Given the description of an element on the screen output the (x, y) to click on. 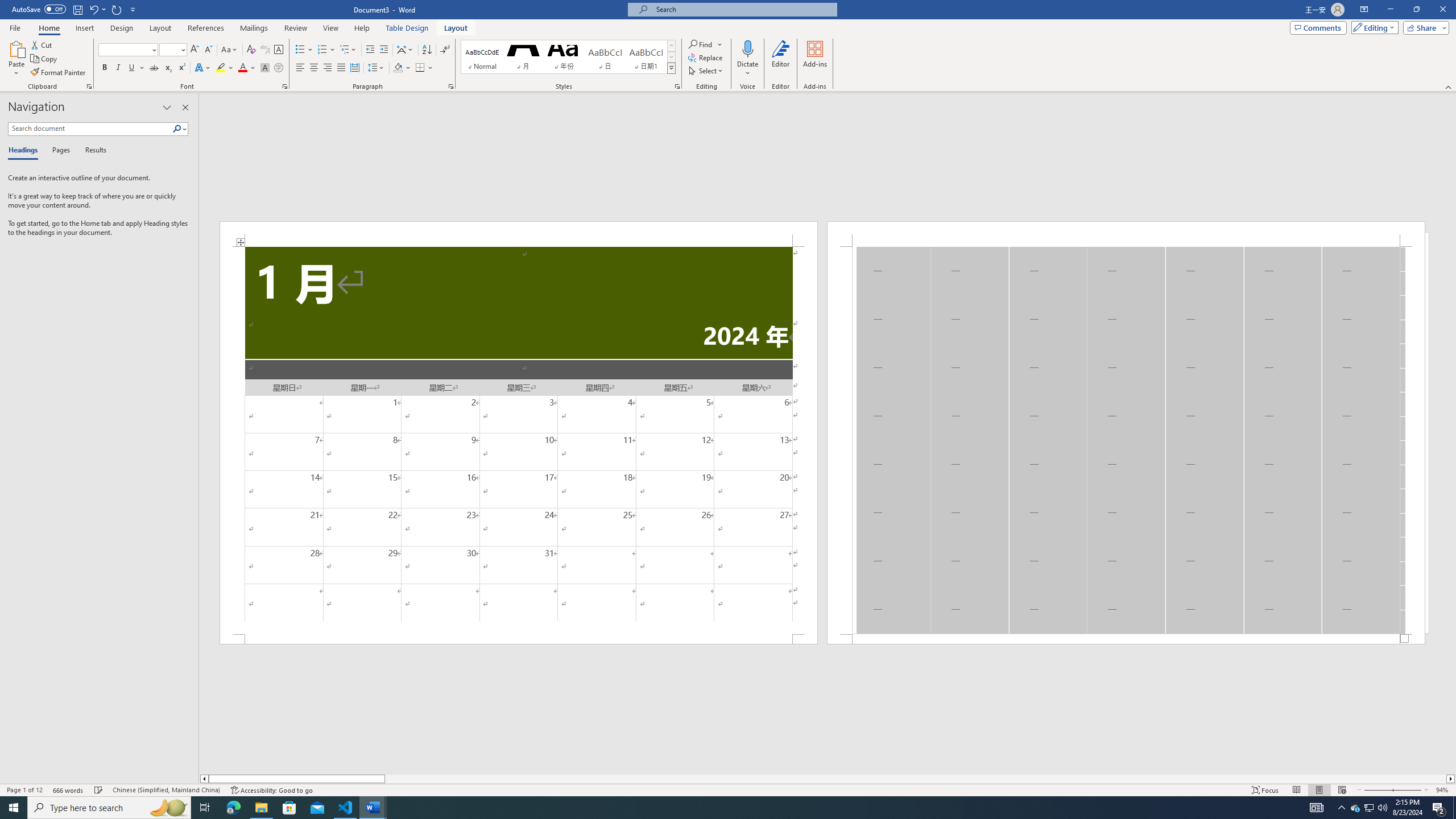
Undo Apply Quick Style (92, 9)
